Given the description of an element on the screen output the (x, y) to click on. 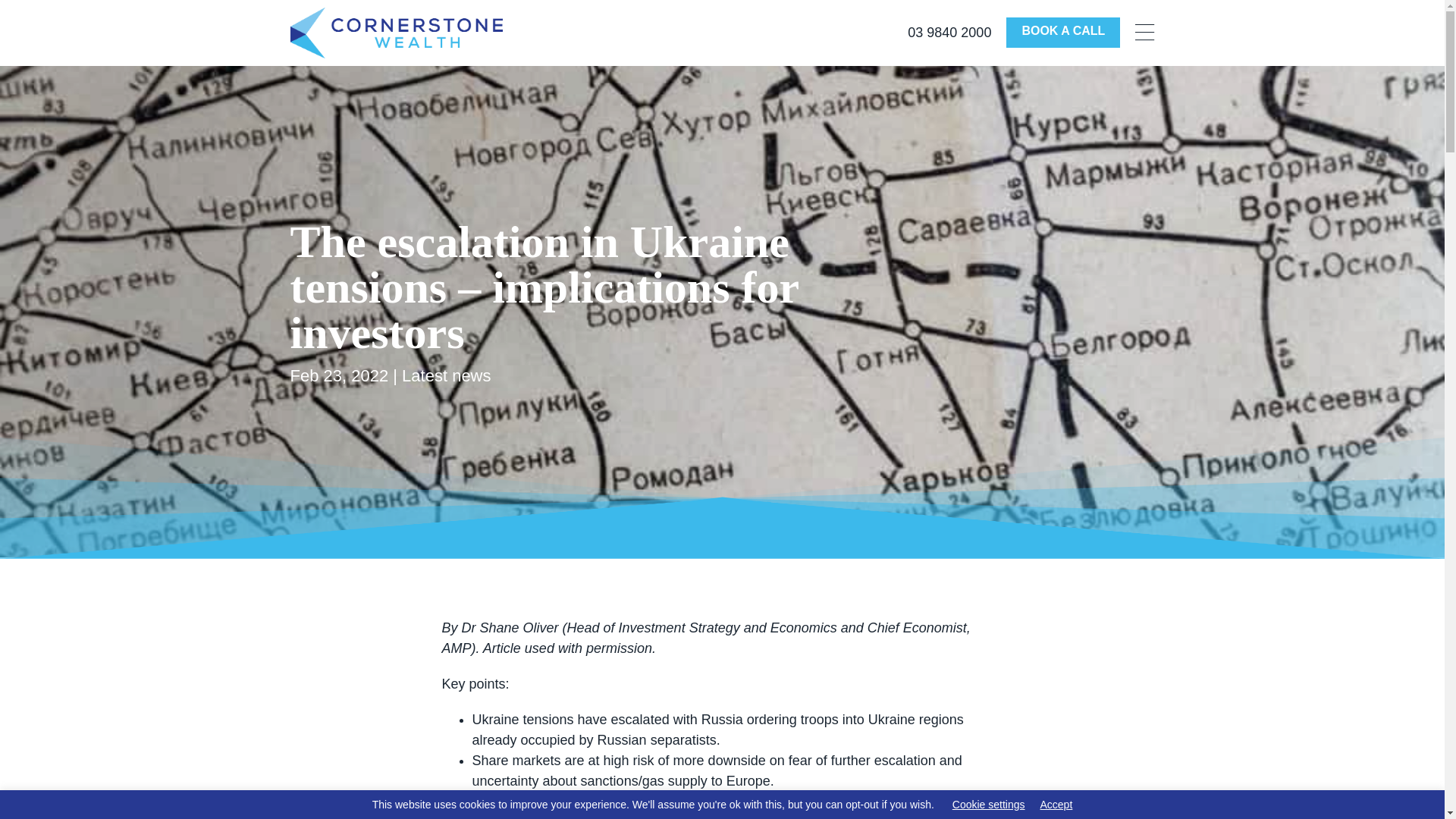
Accept (1057, 804)
uabb-menu-toggle (1144, 33)
Cookie settings (988, 804)
03 9840 2000 (949, 32)
BOOK A CALL (1062, 32)
cornerstone wealth logo (395, 32)
